Given the description of an element on the screen output the (x, y) to click on. 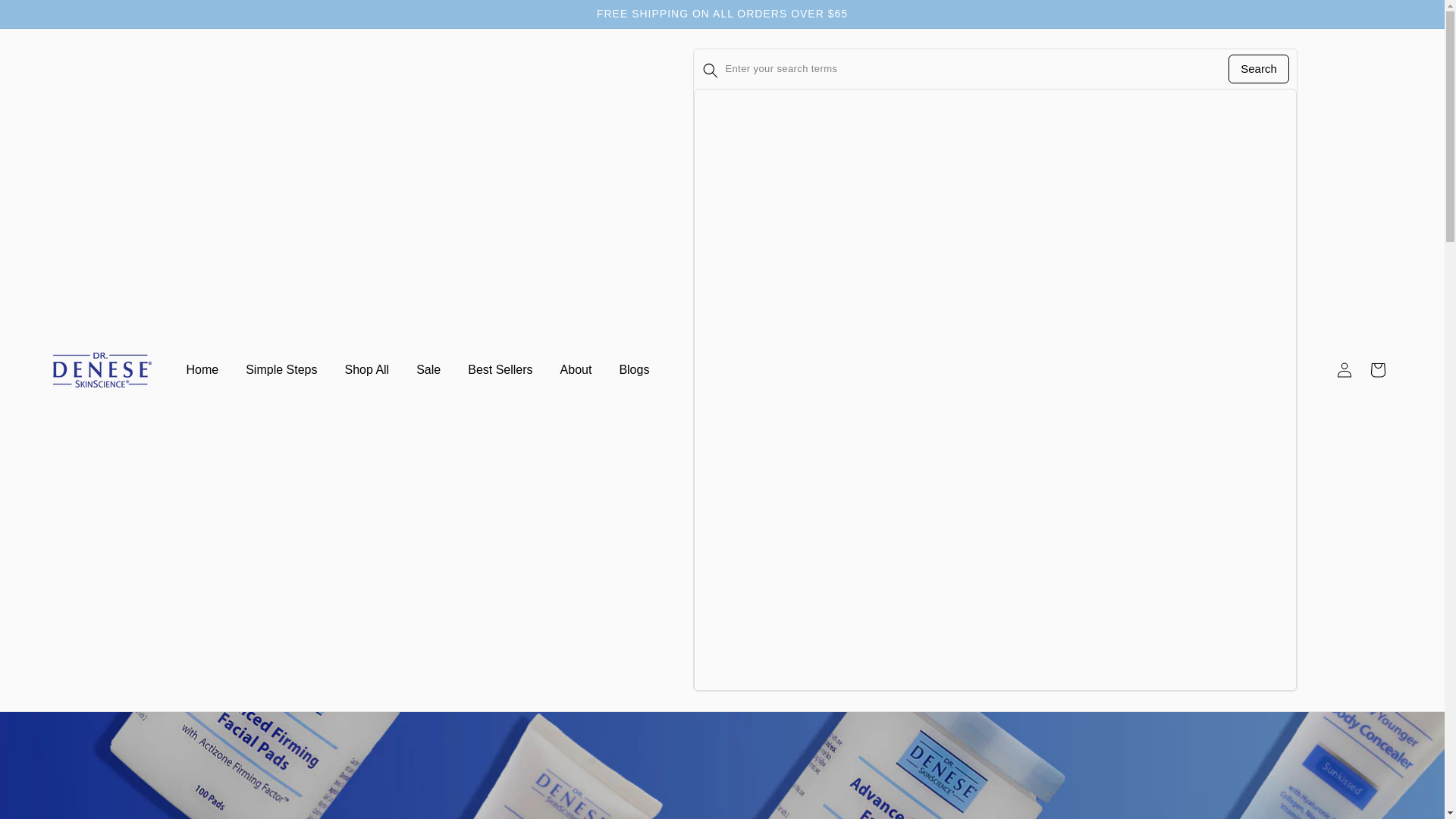
Best Sellers (500, 369)
Log in (1344, 369)
Simple Steps (280, 369)
Search (1258, 68)
Cart (1377, 369)
Skip to content (45, 17)
Sale (428, 369)
Shop All (366, 369)
Home (202, 369)
Blogs (633, 369)
About (576, 369)
